Given the description of an element on the screen output the (x, y) to click on. 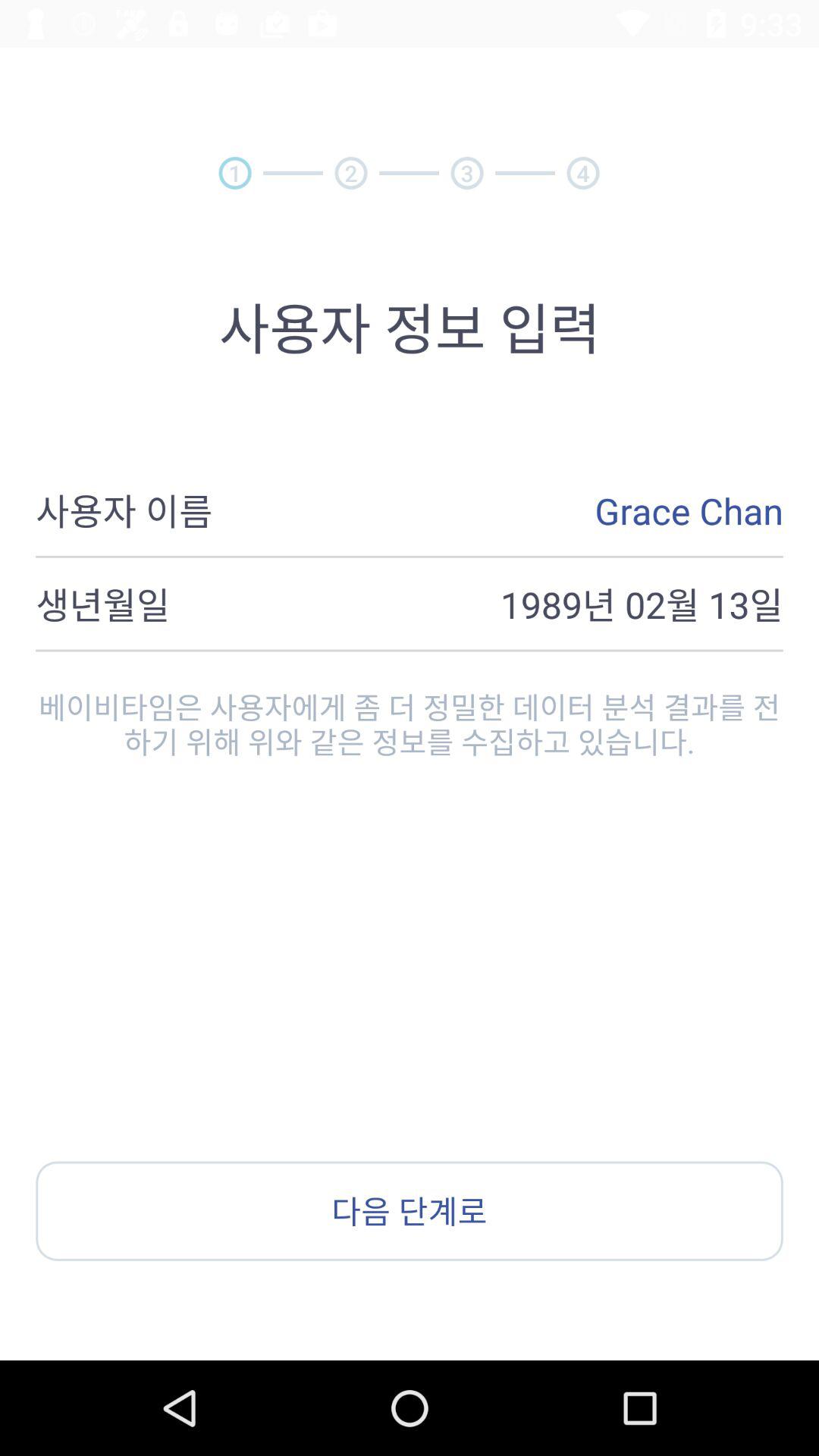
tap the grace chan icon (497, 510)
